Given the description of an element on the screen output the (x, y) to click on. 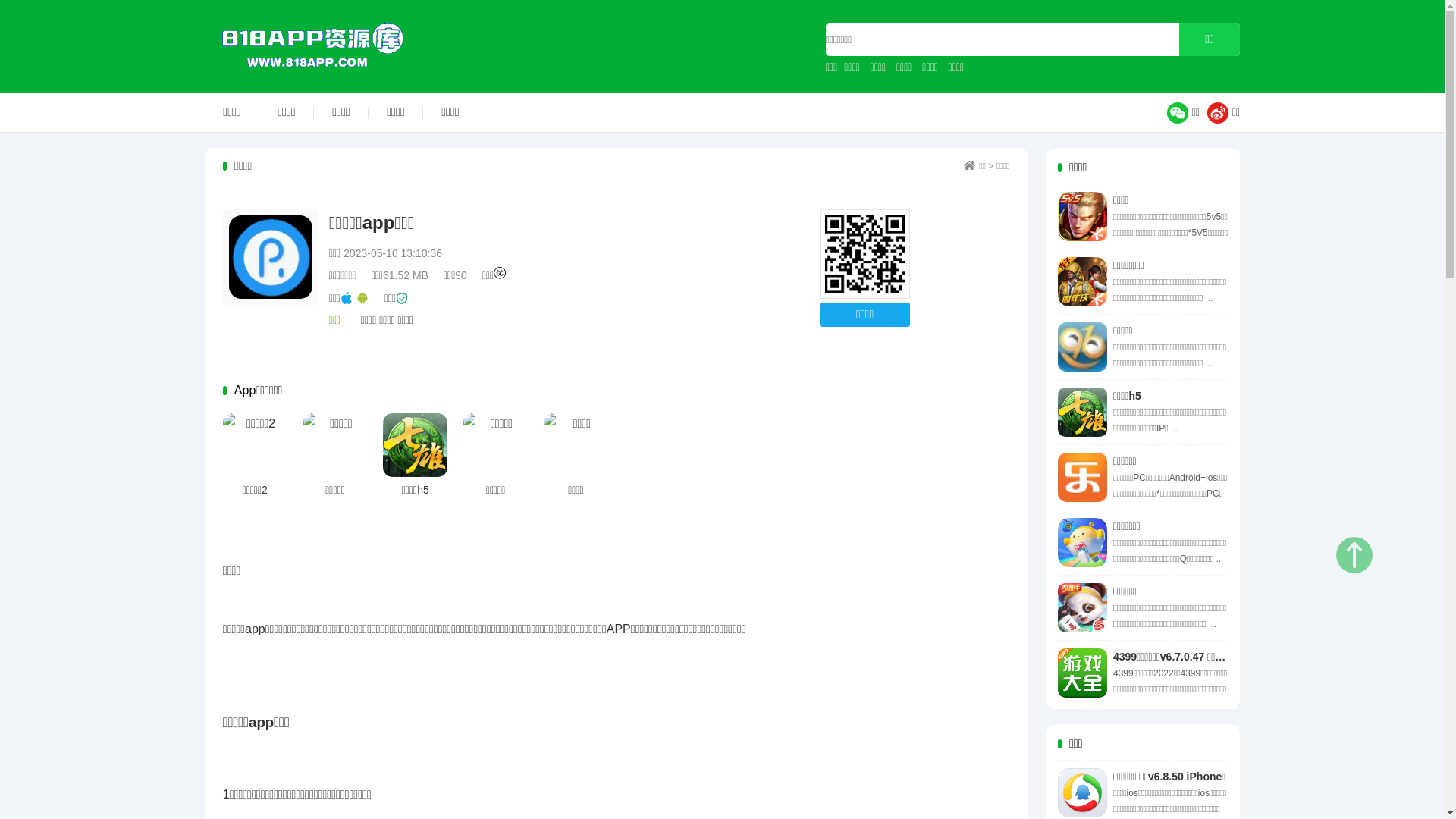
http://www.818app.com Element type: hover (864, 254)
